Given the description of an element on the screen output the (x, y) to click on. 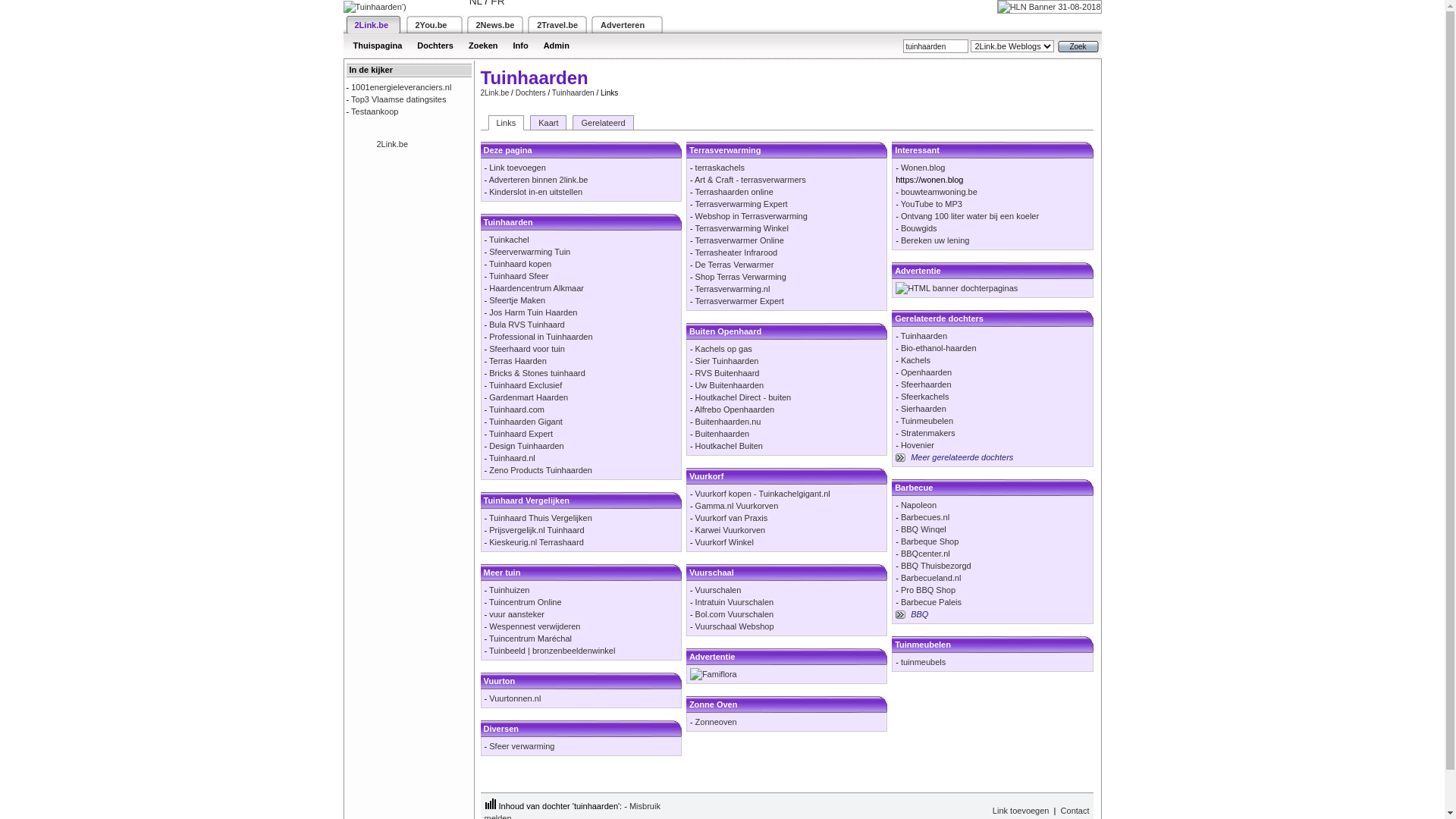
Prijsvergelijk.nl Tuinhaard Element type: text (536, 529)
BBQ Winqel Element type: text (923, 528)
Tuinmeubelen Element type: text (926, 420)
Barbecue Paleis Element type: text (930, 601)
Link toevoegen Element type: text (1020, 810)
Alfrebo Openhaarden Element type: text (734, 409)
Top3 Vlaamse datingsites Element type: text (398, 98)
Terrasverwarmer Expert Element type: text (738, 300)
Design Tuinhaarden Element type: text (526, 445)
Gamma.nl Vuurkorven Element type: text (736, 505)
Tuinbeeld | bronzenbeeldenwinkel Element type: text (552, 650)
Professional in Tuinhaarden Element type: text (540, 336)
Contact Element type: text (1074, 810)
Uw Buitenhaarden Element type: text (729, 384)
Webshop in Terrasverwarming Element type: text (751, 215)
2Link.be Element type: text (371, 24)
Buitenhaarden.nu Element type: text (728, 421)
Terrasverwarming Winkel Element type: text (740, 227)
Kaart Element type: text (548, 122)
2You.be Element type: text (431, 24)
Sfeerkachels Element type: text (924, 396)
Barbeque Shop Element type: text (929, 541)
Vuurkorf van Praxis Element type: text (731, 517)
Terrashaarden online Element type: text (733, 191)
Vuurtonnen.nl Element type: text (514, 697)
2Link.be Element type: text (391, 143)
Bio-ethanol-haarden Element type: text (938, 347)
Buitenhaarden Element type: text (722, 433)
Bereken uw lening Element type: text (934, 239)
Houtkachel Buiten Element type: text (728, 445)
Tuinhaard Expert Element type: text (520, 433)
Terrasheater Infrarood Element type: text (735, 252)
Kinderslot in-en uitstellen Element type: text (535, 191)
BBQ Element type: text (919, 613)
Bula RVS Tuinhaard Element type: text (526, 324)
Barbecues.nl Element type: text (924, 516)
Tuincentrum Online Element type: text (525, 601)
Thuispagina Element type: text (377, 45)
Hovenier Element type: text (917, 444)
Jos Harm Tuin Haarden Element type: text (533, 311)
Dochters Element type: text (435, 45)
tuinmeubels Element type: text (922, 661)
Dochters Element type: text (530, 92)
2Travel.be Element type: text (556, 24)
De Terras Verwarmer Element type: text (734, 264)
Karwei Vuurkorven Element type: text (730, 529)
Zoeken Element type: text (483, 45)
Tuinhaarden Element type: text (923, 335)
Sfeerverwarming Tuin Element type: text (529, 251)
Terrasverwarmer Online Element type: text (738, 239)
Pro BBQ Shop Element type: text (927, 589)
Tuinhaard.nl Element type: text (512, 457)
2News.be Element type: text (495, 24)
Tuinhuizen Element type: text (509, 589)
Barbecueland.nl Element type: text (930, 577)
Terrasverwarming Expert Element type: text (740, 203)
Gardenmart Haarden Element type: text (528, 396)
Vuurschalen Element type: text (718, 589)
Art & Craft - terrasverwarmers Element type: text (750, 179)
Bol.com Vuurschalen Element type: text (734, 613)
Stratenmakers Element type: text (927, 432)
Bricks & Stones tuinhaard Element type: text (537, 372)
Admin Element type: text (556, 45)
Vuurkorf Winkel Element type: text (724, 541)
YouTube to MP3 Element type: text (931, 203)
Adverteren binnen 2link.be Element type: text (538, 179)
Info Element type: text (520, 45)
Tuinhaard Exclusief Element type: text (525, 384)
Adverteren Element type: text (622, 24)
Gerelateerd Element type: text (602, 122)
Tuinhaarden Element type: text (573, 92)
Terras Haarden Element type: text (517, 360)
Zeno Products Tuinhaarden Element type: text (540, 469)
Kieskeurig.nl Terrashaard Element type: text (536, 541)
Sier Tuinhaarden Element type: text (727, 360)
Links Element type: text (506, 122)
BBQ Thuisbezorgd Element type: text (935, 565)
Kachels Element type: text (915, 359)
Shop Terras Verwarming Element type: text (740, 276)
Zoek Element type: text (1077, 46)
1001energieleveranciers.nl Element type: text (401, 86)
vuur aansteker Element type: text (516, 613)
Sfeertje Maken Element type: text (517, 299)
BBQcenter.nl Element type: text (925, 553)
Tuinhaard.com Element type: text (516, 409)
terraskachels Element type: text (719, 167)
Haardencentrum Alkmaar Element type: text (536, 287)
Ontvang 100 liter water bij een koeler Element type: text (969, 215)
RVS Buitenhaard Element type: text (727, 372)
Link toevoegen Element type: text (517, 167)
2Link.be Element type: text (494, 92)
Openhaarden Element type: text (925, 371)
Sfeer verwarming Element type: text (521, 745)
Tuinhaard Thuis Vergelijken Element type: text (540, 517)
Sfeerhaarden Element type: text (925, 384)
Vuurkorf kopen - Tuinkachelgigant.nl Element type: text (762, 493)
Sierhaarden Element type: text (923, 408)
Napoleon Element type: text (918, 504)
Kachels op gas Element type: text (723, 348)
Vuurschaal Webshop Element type: text (734, 625)
Wespennest verwijderen Element type: text (534, 625)
Sfeerhaard voor tuin Element type: text (526, 348)
Tuinhaard kopen Element type: text (520, 263)
Tuinhaard Sfeer Element type: text (518, 275)
Bouwgids Element type: text (918, 227)
Terrasverwarming.nl Element type: text (731, 288)
Tuinkachel Element type: text (509, 239)
Meer gerelateerde dochters Element type: text (961, 456)
Testaankoop Element type: text (374, 111)
Intratuin Vuurschalen Element type: text (734, 601)
Tuinhaarden Gigant Element type: text (525, 421)
Houtkachel Direct - buiten Element type: text (743, 396)
Zonneoven Element type: text (716, 721)
bouwteamwoning.be Element type: text (938, 191)
Wonen.blog Element type: text (922, 167)
